Given the description of an element on the screen output the (x, y) to click on. 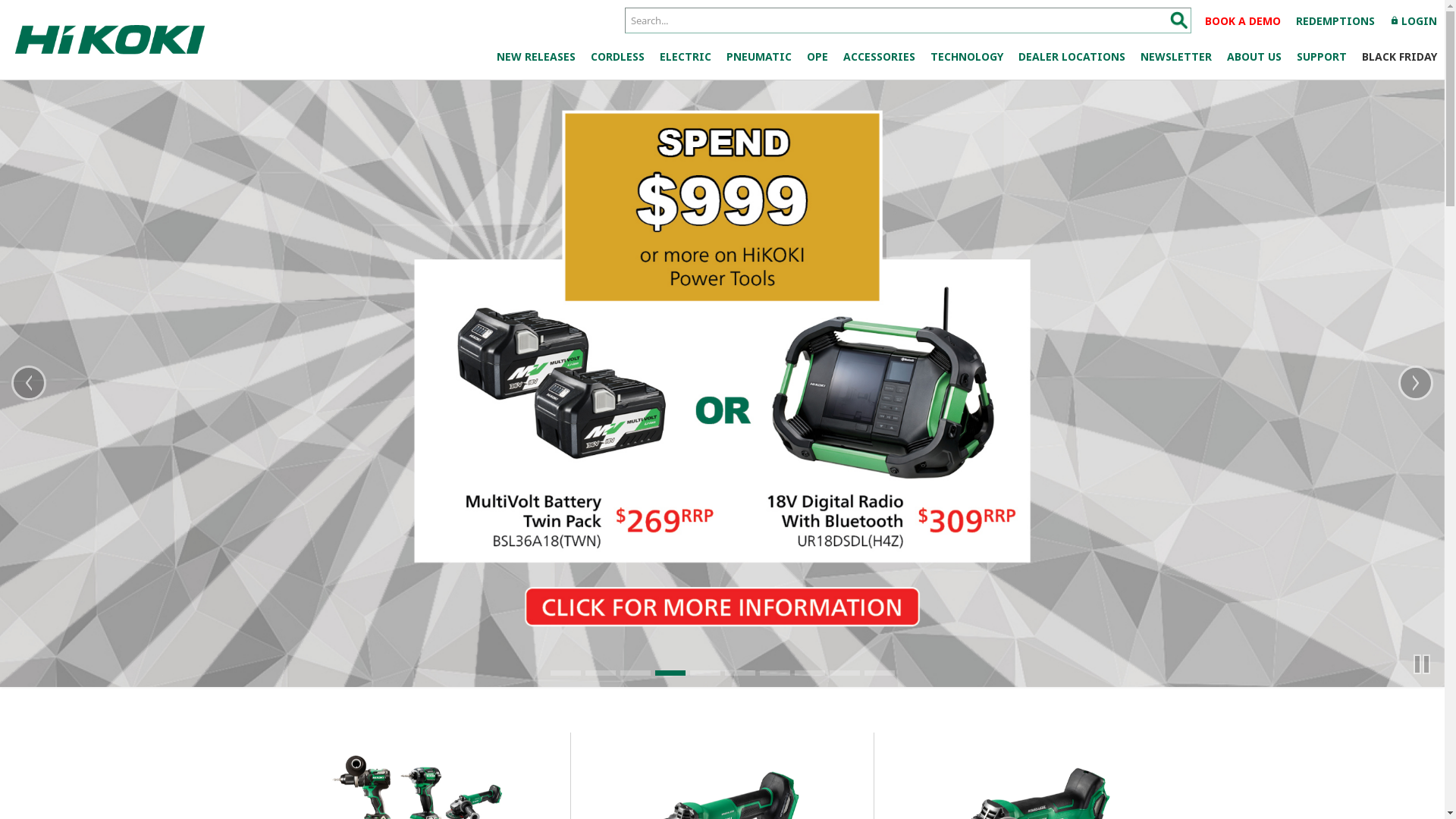
ACCESSORIES Element type: text (878, 56)
NEWSLETTER Element type: text (1175, 56)
SUPPORT Element type: text (1321, 56)
CORDLESS Element type: text (617, 56)
BLACK FRIDAY Element type: text (1399, 56)
ELECTRIC Element type: text (685, 56)
DEALER LOCATIONS Element type: text (1071, 56)
lockLOGIN Element type: text (1413, 21)
OPE Element type: text (817, 56)
TECHNOLOGY Element type: text (966, 56)
BOOK A DEMO Element type: text (1242, 21)
NEW RELEASES Element type: text (536, 56)
PNEUMATIC Element type: text (758, 56)
REDEMPTIONS Element type: text (1335, 21)
ABOUT US Element type: text (1254, 56)
